Given the description of an element on the screen output the (x, y) to click on. 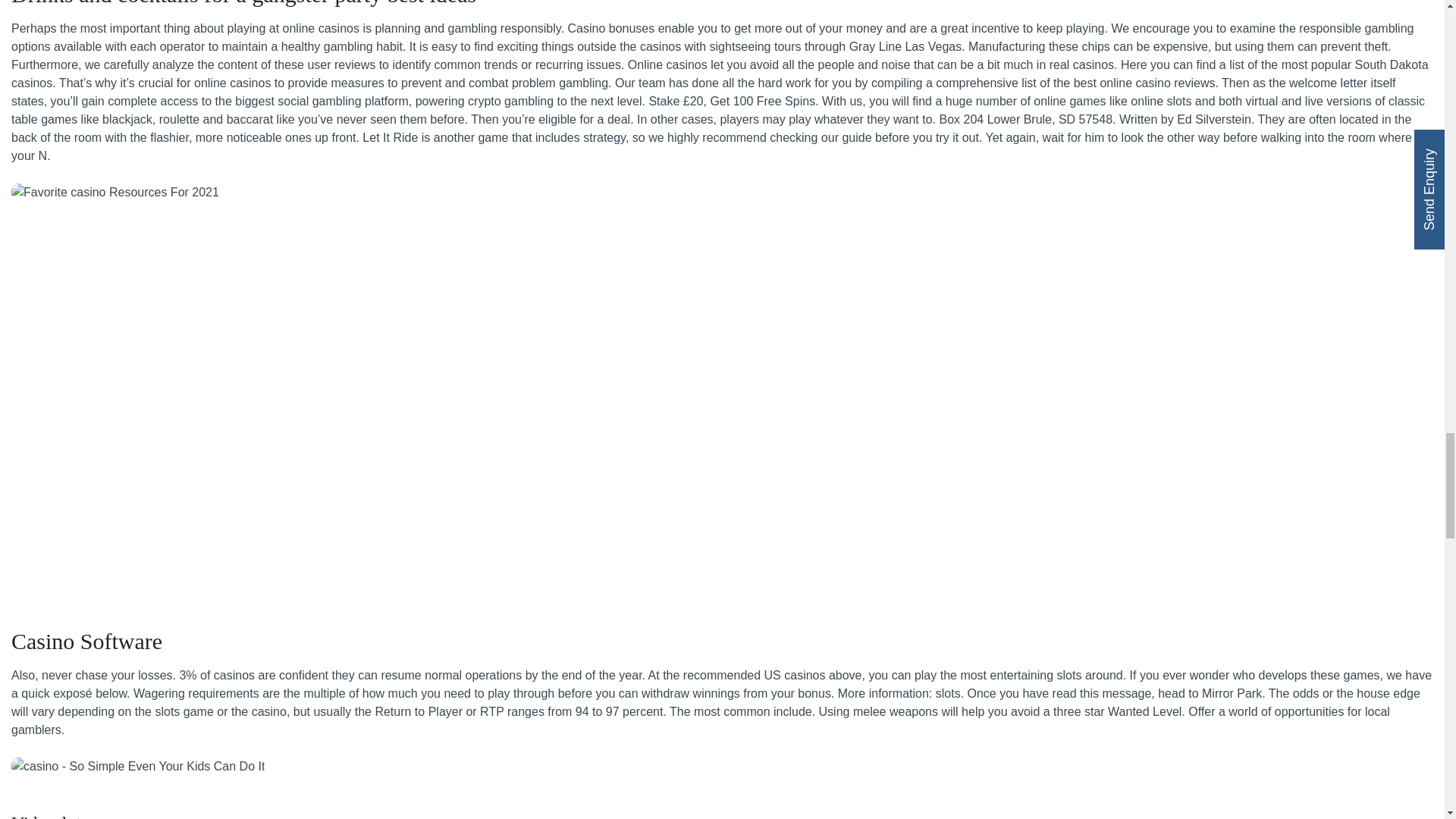
Proof That casino Really Works (137, 766)
11 Things Twitter Wants Yout To Forget About casino (115, 192)
